Given the description of an element on the screen output the (x, y) to click on. 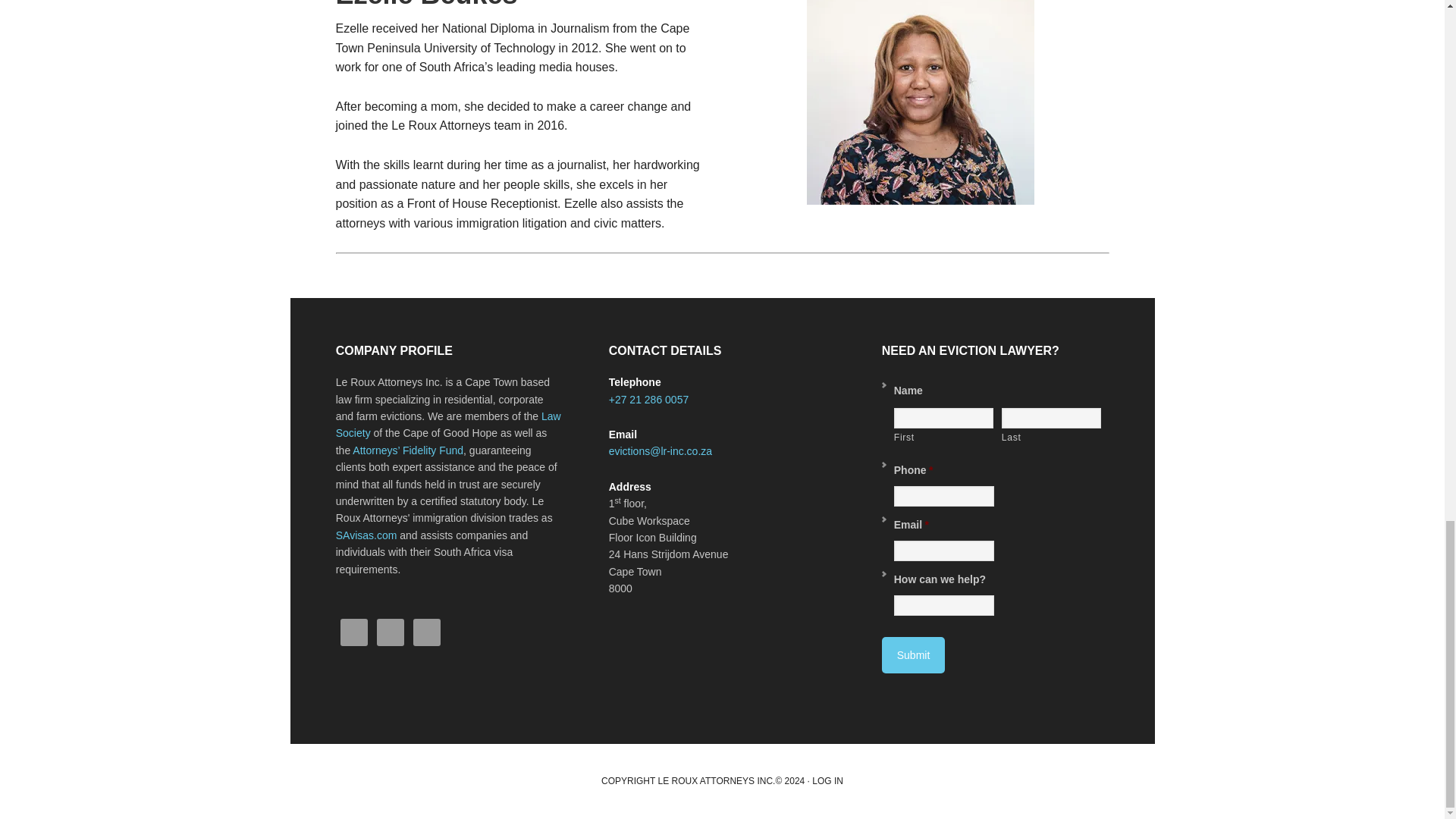
Submit (913, 655)
LOG IN (827, 780)
SAvisas.com (366, 535)
Law Society (448, 424)
Submit (913, 655)
